Given the description of an element on the screen output the (x, y) to click on. 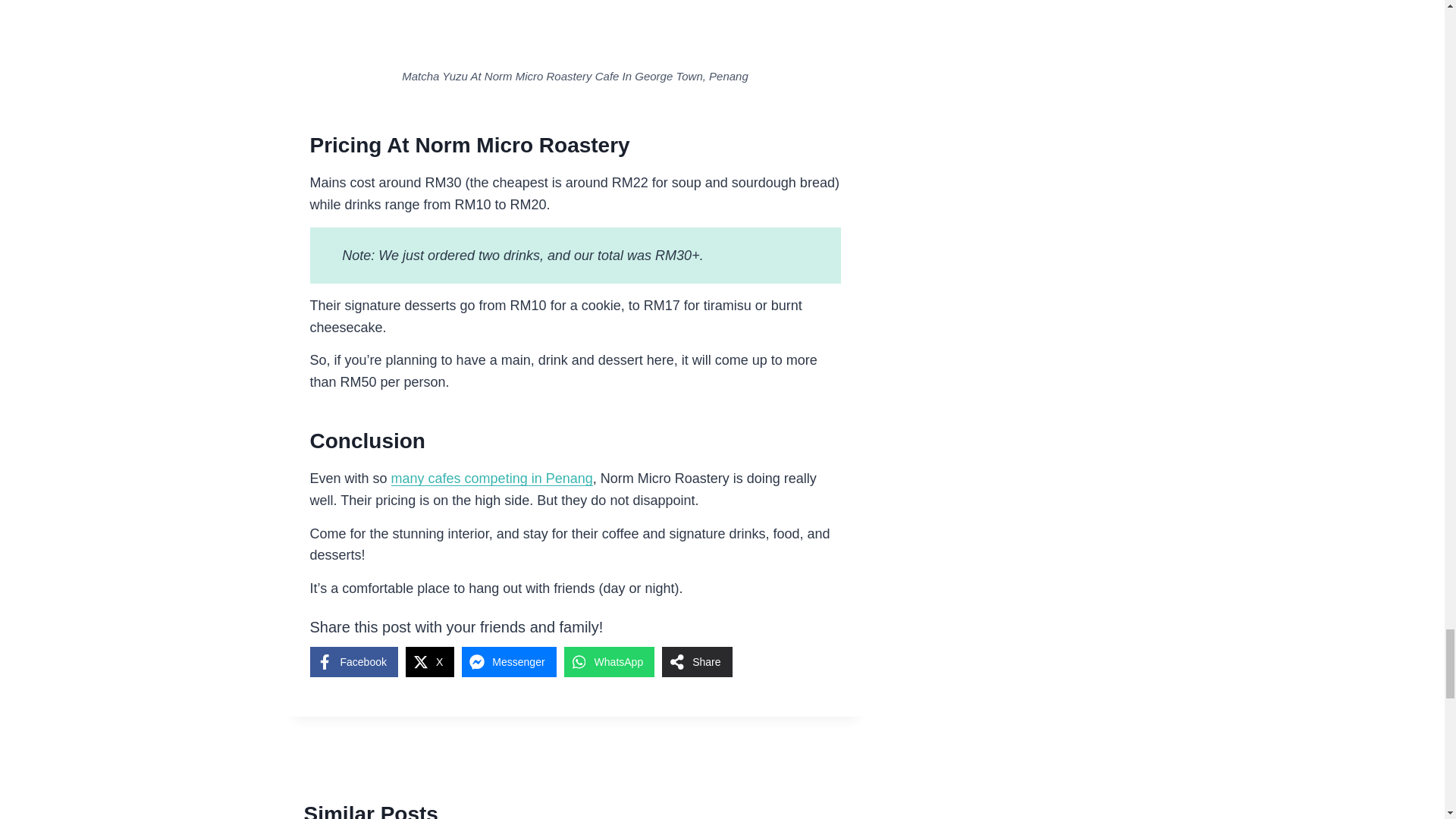
X (430, 662)
Facebook (352, 662)
many cafes competing in Penang (491, 478)
